Given the description of an element on the screen output the (x, y) to click on. 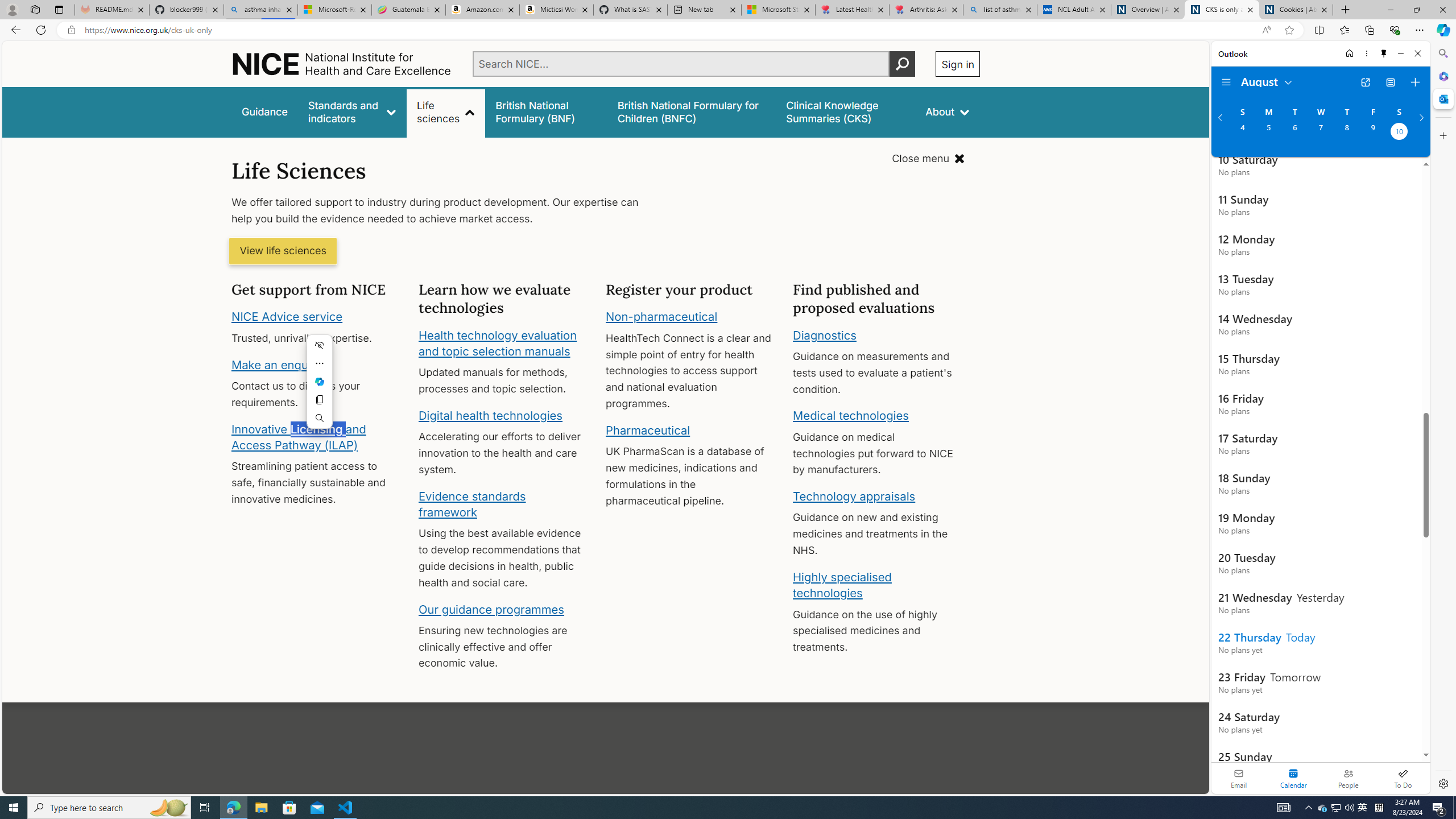
list of asthma inhalers uk - Search (1000, 9)
Non-pharmaceutical (661, 316)
Thursday, August 8, 2024.  (1346, 132)
Sign in (957, 63)
